Given the description of an element on the screen output the (x, y) to click on. 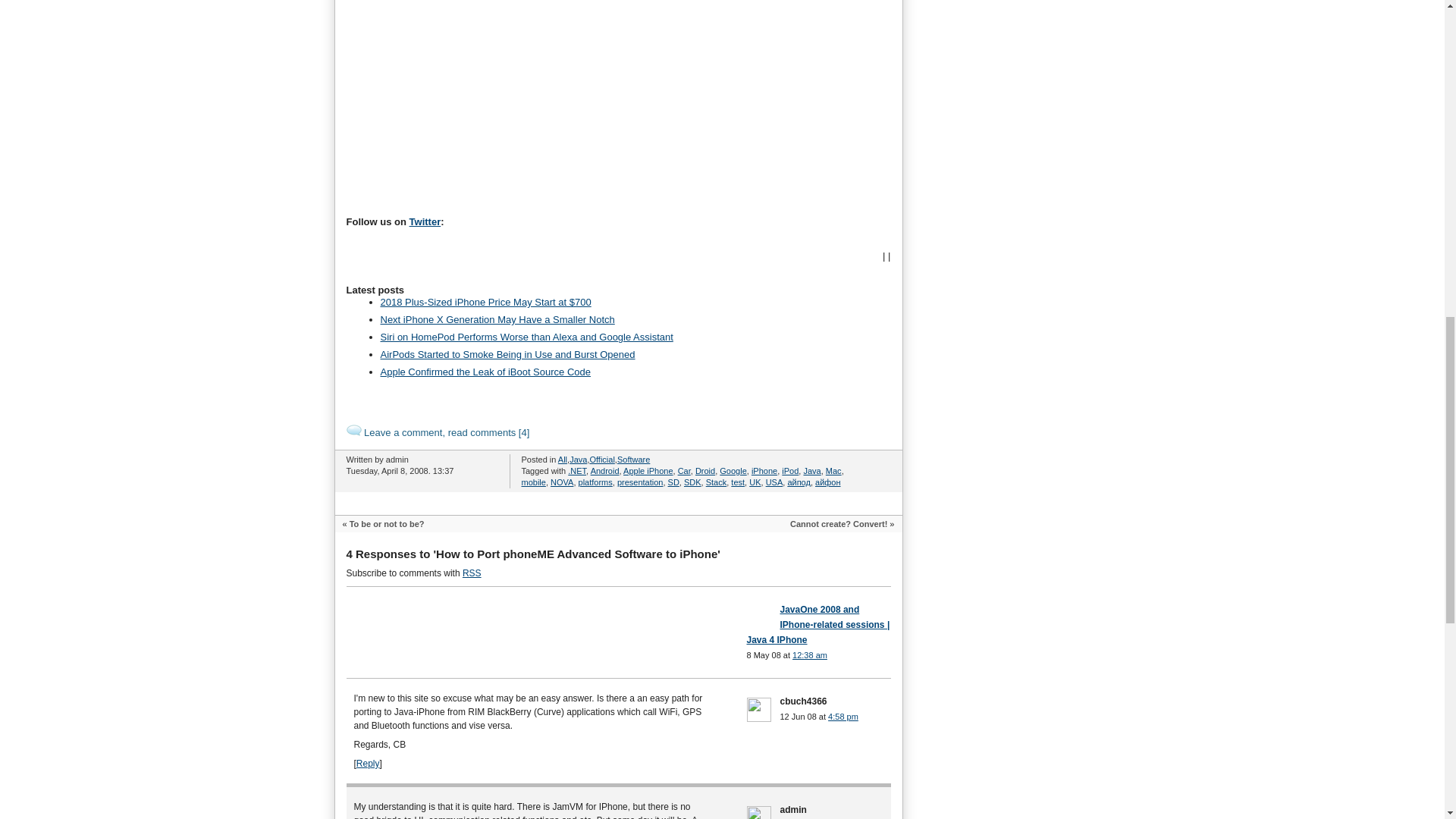
Apple Confirmed the Leak of iBoot Source Code (485, 371)
Next iPhone X Generation May Have a Smaller Notch (497, 319)
Car (684, 470)
Software (633, 459)
Apple Confirmed the Leak of iBoot Source Code (485, 371)
AirPods Started to Smoke Being in Use and Burst Opened (507, 354)
Google (732, 470)
Next iPhone X Generation May Have a Smaller Notch (497, 319)
.NET (576, 470)
Java (812, 470)
Android (605, 470)
View all posts in Software (633, 459)
Twitter (425, 221)
